Given the description of an element on the screen output the (x, y) to click on. 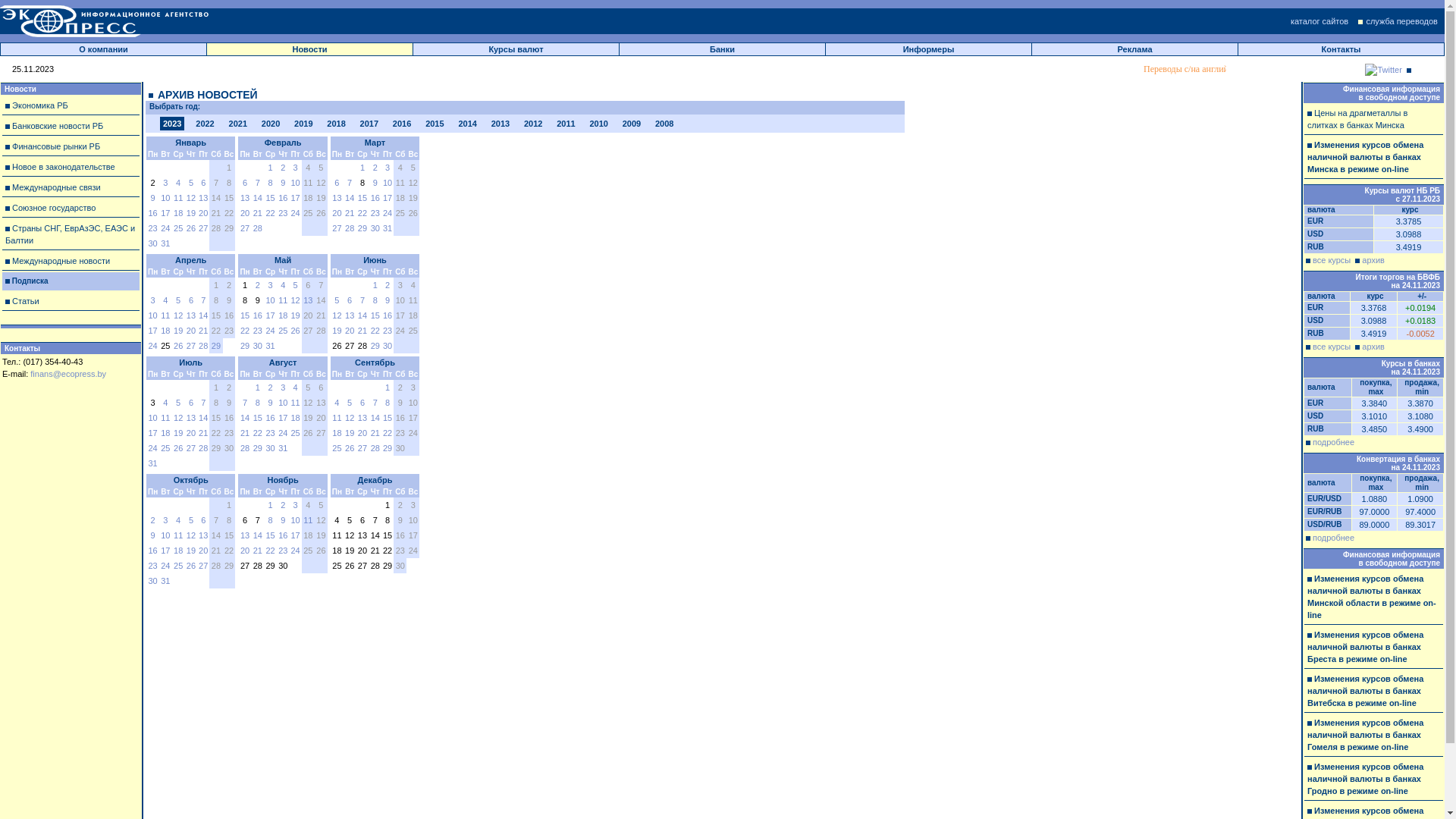
17 Element type: text (151, 432)
5 Element type: text (177, 402)
2 Element type: text (270, 387)
12 Element type: text (177, 315)
8 Element type: text (387, 402)
15 Element type: text (387, 417)
27 Element type: text (190, 345)
24 Element type: text (269, 330)
1 Element type: text (270, 167)
15 Element type: text (257, 417)
11 Element type: text (177, 534)
11 Element type: text (282, 299)
11 Element type: text (164, 315)
17 Element type: text (269, 315)
6 Element type: text (336, 182)
20 Element type: text (202, 212)
21 Element type: text (257, 550)
Twitter Element type: hover (1383, 69)
15 Element type: text (362, 197)
21 Element type: text (374, 432)
7 Element type: text (244, 402)
9 Element type: text (282, 182)
9 Element type: text (375, 182)
11 Element type: text (307, 519)
19 Element type: text (177, 432)
14 Element type: text (202, 315)
5 Element type: text (349, 402)
1 Element type: text (257, 387)
2 Element type: text (375, 167)
5 Element type: text (190, 182)
2013 Element type: text (500, 123)
29 Element type: text (215, 345)
20 Element type: text (190, 330)
7 Element type: text (349, 182)
1 Element type: text (362, 167)
31 Element type: text (151, 462)
10 Element type: text (164, 534)
4 Element type: text (177, 519)
27 Element type: text (202, 227)
2 Element type: text (152, 519)
3 Element type: text (270, 284)
16 Element type: text (257, 315)
27 Element type: text (244, 227)
13 Element type: text (362, 417)
30 Element type: text (151, 580)
4 Element type: text (177, 182)
2010 Element type: text (598, 123)
18 Element type: text (177, 550)
23 Element type: text (282, 212)
perevod@ecopress.by Element type: text (1361, 68)
19 Element type: text (336, 330)
14 Element type: text (257, 197)
24 Element type: text (387, 212)
2 Element type: text (387, 284)
17 Element type: text (151, 330)
13 Element type: text (244, 197)
12 Element type: text (294, 299)
26 Element type: text (190, 565)
30 Element type: text (374, 227)
6 Element type: text (362, 402)
31 Element type: text (164, 580)
2011 Element type: text (565, 123)
31 Element type: text (269, 345)
24 Element type: text (151, 345)
23 Element type: text (374, 212)
29 Element type: text (374, 345)
10 Element type: text (294, 519)
14 Element type: text (257, 534)
22 Element type: text (374, 330)
15 Element type: text (374, 315)
3 Element type: text (165, 182)
22 Element type: text (269, 550)
26 Element type: text (177, 447)
5 Element type: text (295, 284)
3 Element type: text (152, 299)
1 Element type: text (375, 284)
14 Element type: text (202, 417)
6 Element type: text (202, 519)
2023 Element type: text (172, 123)
11 Element type: text (164, 417)
13 Element type: text (202, 534)
15 Element type: text (244, 315)
6 Element type: text (202, 182)
2021 Element type: text (237, 123)
17 Element type: text (294, 197)
2 Element type: text (282, 167)
2015 Element type: text (434, 123)
14 Element type: text (362, 315)
21 Element type: text (244, 432)
30 Element type: text (269, 447)
3 Element type: text (387, 167)
28 Element type: text (349, 227)
28 Element type: text (202, 345)
3 Element type: text (295, 167)
23 Element type: text (151, 227)
2016 Element type: text (401, 123)
25 Element type: text (336, 447)
1 Element type: text (270, 504)
16 Element type: text (282, 534)
12 Element type: text (349, 417)
19 Element type: text (177, 330)
28 Element type: text (374, 447)
2020 Element type: text (270, 123)
25 Element type: text (164, 447)
4 Element type: text (295, 387)
12 Element type: text (190, 197)
2008 Element type: text (664, 123)
3 Element type: text (295, 504)
20 Element type: text (362, 432)
23 Element type: text (282, 550)
2018 Element type: text (335, 123)
1 Element type: text (387, 387)
18 Element type: text (294, 417)
18 Element type: text (164, 330)
9 Element type: text (270, 402)
22 Element type: text (269, 212)
finans@ecopress.by Element type: text (68, 373)
13 Element type: text (190, 315)
4 Element type: text (282, 284)
16 Element type: text (387, 315)
8 Element type: text (257, 402)
21 Element type: text (202, 432)
4 Element type: text (165, 402)
10 Element type: text (269, 299)
3 Element type: text (282, 387)
24 Element type: text (151, 447)
16 Element type: text (282, 197)
15 Element type: text (269, 534)
24 Element type: text (282, 432)
13 Element type: text (190, 417)
9 Element type: text (282, 519)
20 Element type: text (349, 330)
29 Element type: text (362, 227)
23 Element type: text (257, 330)
8 Element type: text (270, 519)
16 Element type: text (151, 212)
9 Element type: text (152, 197)
16 Element type: text (269, 417)
20 Element type: text (244, 550)
17 Element type: text (294, 534)
28 Element type: text (202, 447)
12 Element type: text (336, 315)
5 Element type: text (336, 299)
22 Element type: text (362, 212)
20 Element type: text (202, 550)
13 Element type: text (349, 315)
7 Element type: text (257, 182)
8 Element type: text (270, 182)
25 Element type: text (282, 330)
9 Element type: text (387, 299)
24 Element type: text (294, 212)
13 Element type: text (307, 299)
16 Element type: text (151, 550)
18 Element type: text (336, 432)
22 Element type: text (387, 432)
4 Element type: text (336, 402)
12 Element type: text (177, 417)
31 Element type: text (164, 242)
28 Element type: text (244, 447)
17 Element type: text (387, 197)
22 Element type: text (244, 330)
21 Element type: text (202, 330)
17 Element type: text (164, 550)
2014 Element type: text (467, 123)
11 Element type: text (294, 402)
19 Element type: text (190, 212)
12 Element type: text (190, 534)
29 Element type: text (244, 345)
18 Element type: text (282, 315)
17 Element type: text (164, 212)
13 Element type: text (202, 197)
25 Element type: text (177, 227)
2 Element type: text (257, 284)
3 Element type: text (165, 519)
15 Element type: text (269, 197)
25 Element type: text (294, 432)
18 Element type: text (177, 212)
30 Element type: text (387, 345)
2019 Element type: text (303, 123)
2009 Element type: text (631, 123)
29 Element type: text (387, 447)
26 Element type: text (349, 447)
19 Element type: text (349, 432)
7 Element type: text (202, 402)
8 Element type: text (375, 299)
19 Element type: text (294, 315)
20 Element type: text (336, 212)
6 Element type: text (349, 299)
31 Element type: text (282, 447)
20 Element type: text (244, 212)
18 Element type: text (164, 432)
27 Element type: text (362, 447)
10 Element type: text (164, 197)
7 Element type: text (202, 299)
26 Element type: text (190, 227)
10 Element type: text (294, 182)
10 Element type: text (282, 402)
11 Element type: text (336, 417)
6 Element type: text (190, 402)
29 Element type: text (257, 447)
28 Element type: text (257, 227)
13 Element type: text (336, 197)
2022 Element type: text (204, 123)
27 Element type: text (336, 227)
16 Element type: text (374, 197)
21 Element type: text (362, 330)
6 Element type: text (190, 299)
9 Element type: text (152, 534)
24 Element type: text (294, 550)
27 Element type: text (190, 447)
19 Element type: text (190, 550)
25 Element type: text (177, 565)
5 Element type: text (190, 519)
7 Element type: text (362, 299)
30 Element type: text (151, 242)
24 Element type: text (164, 227)
23 Element type: text (387, 330)
14 Element type: text (349, 197)
11 Element type: text (177, 197)
2 Element type: text (282, 504)
10 Element type: text (151, 315)
2017 Element type: text (369, 123)
10 Element type: text (387, 182)
23 Element type: text (269, 432)
26 Element type: text (294, 330)
20 Element type: text (190, 432)
14 Element type: text (244, 417)
27 Element type: text (202, 565)
2012 Element type: text (532, 123)
22 Element type: text (257, 432)
7 Element type: text (375, 402)
30 Element type: text (257, 345)
5 Element type: text (177, 299)
6 Element type: text (244, 182)
31 Element type: text (387, 227)
21 Element type: text (349, 212)
13 Element type: text (244, 534)
24 Element type: text (164, 565)
23 Element type: text (151, 565)
10 Element type: text (151, 417)
4 Element type: text (165, 299)
14 Element type: text (374, 417)
26 Element type: text (177, 345)
17 Element type: text (282, 417)
21 Element type: text (257, 212)
